Given the description of an element on the screen output the (x, y) to click on. 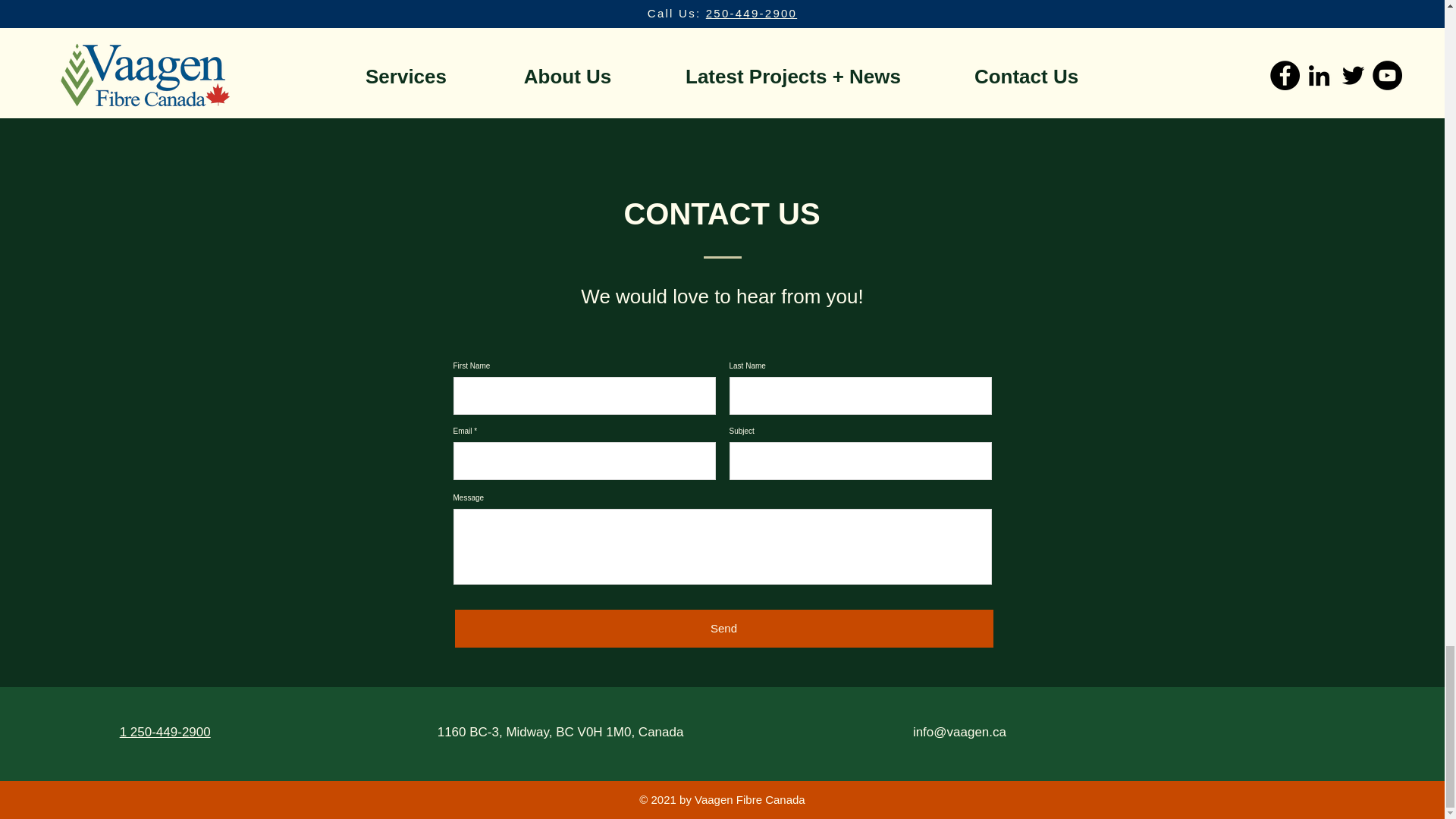
Post not marked as liked (564, 28)
1 250-449-2900 (1052, 29)
0 (165, 731)
Send (691, 29)
0 (723, 628)
